Given the description of an element on the screen output the (x, y) to click on. 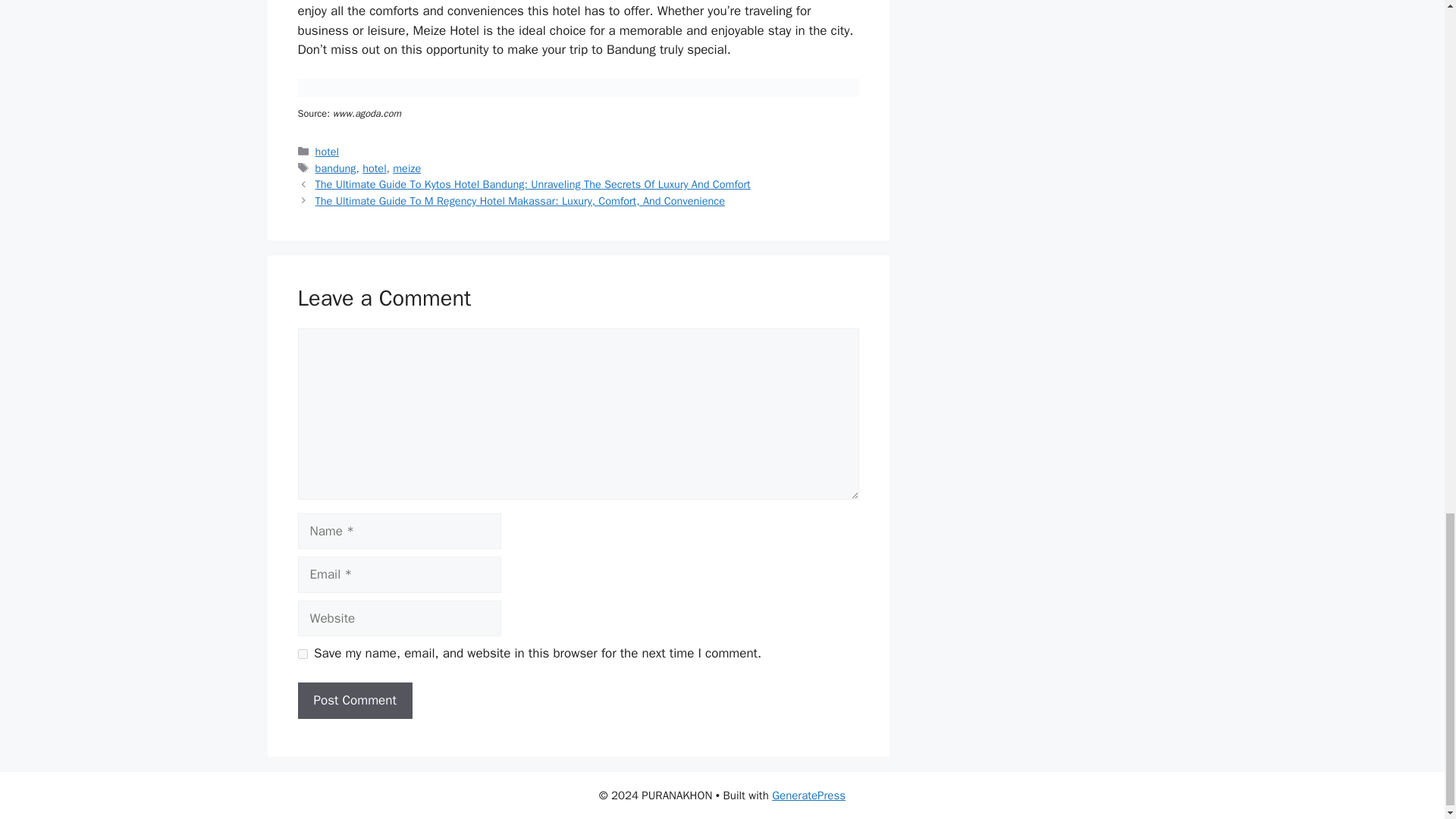
meize (406, 168)
yes (302, 654)
Post Comment (354, 700)
hotel (327, 151)
hotel (373, 168)
bandung (335, 168)
Post Comment (354, 700)
